Given the description of an element on the screen output the (x, y) to click on. 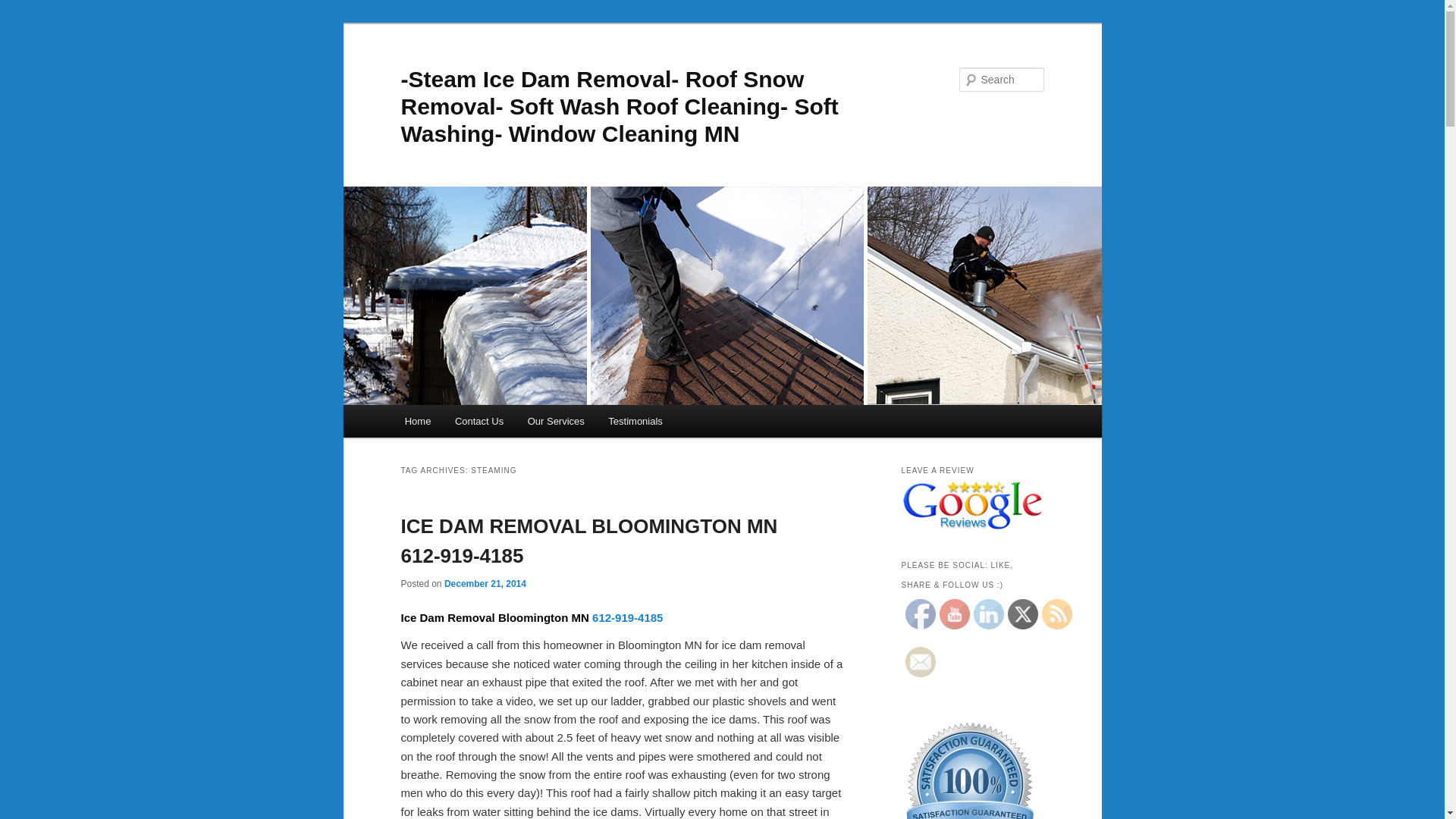
612-919-4185 (627, 617)
3:42 pm (484, 583)
Testimonials (635, 420)
ICE DAM REMOVAL BLOOMINGTON MN 612-919-4185 (588, 541)
Our Services (555, 420)
Home (417, 420)
December 21, 2014 (484, 583)
Search (24, 8)
Contact Us (478, 420)
